Given the description of an element on the screen output the (x, y) to click on. 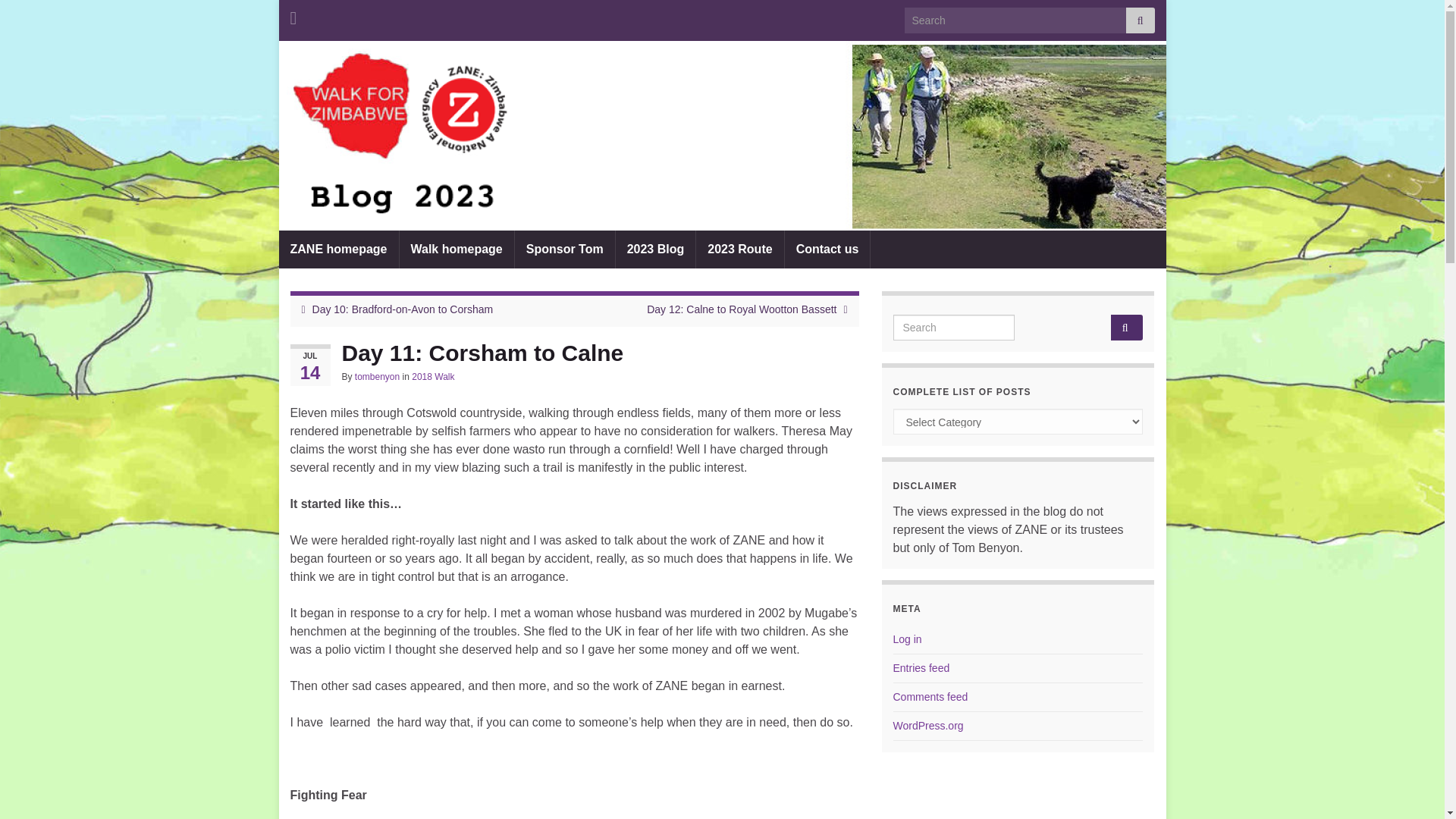
ZANE homepage (338, 249)
Contact us (827, 249)
Entries feed (921, 667)
Comments feed (930, 696)
Sponsor Tom (564, 249)
2023 Blog (655, 249)
tombenyon (376, 376)
WordPress.org (928, 725)
2018 Walk (433, 376)
